Given the description of an element on the screen output the (x, y) to click on. 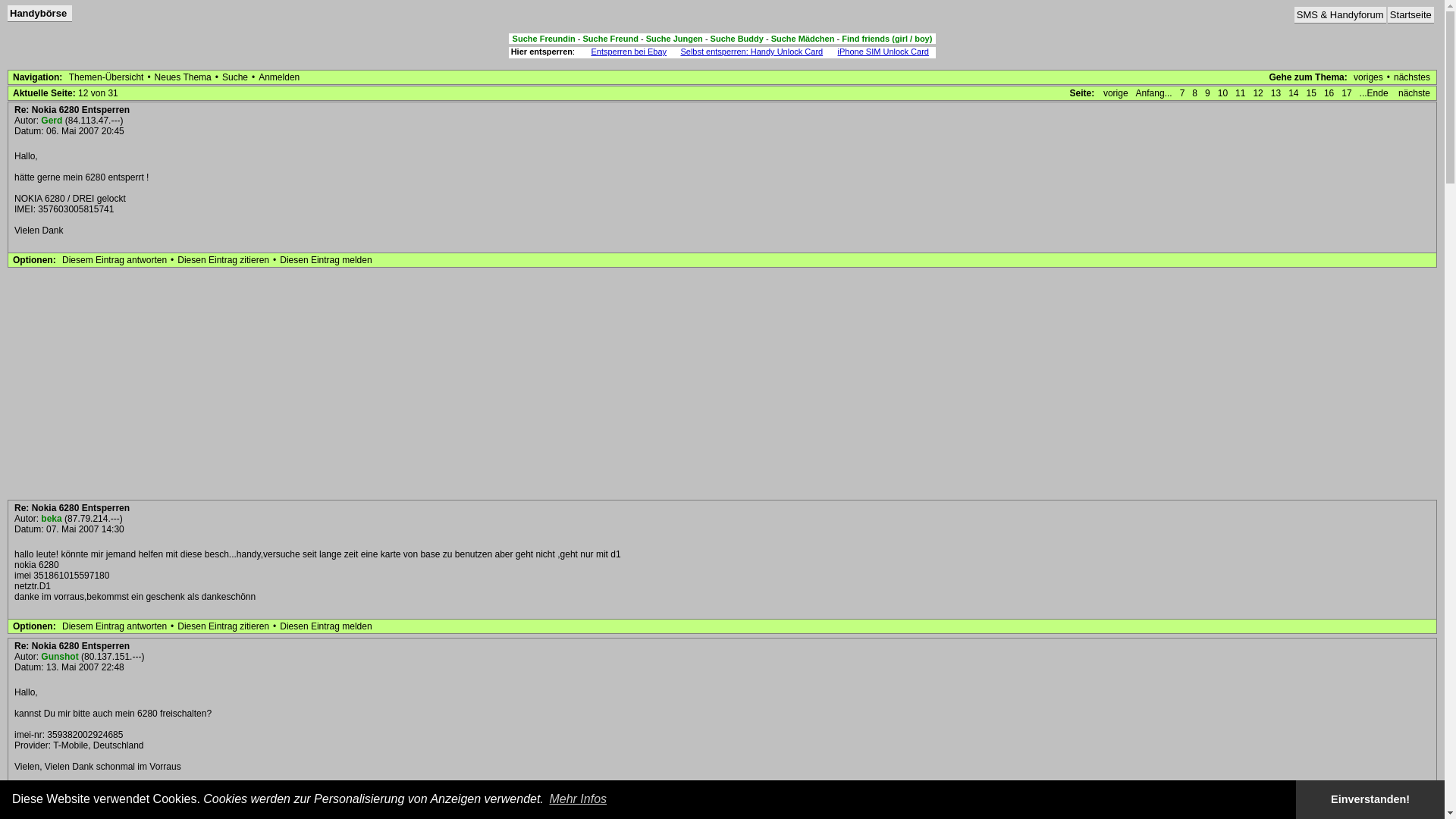
Suche Jungen Element type: text (674, 38)
13 Element type: text (1275, 93)
Selbst entsperren: Handy Unlock Card Element type: text (751, 51)
...Ende Element type: text (1374, 93)
Suche Freundin Element type: text (543, 38)
Entsperren bei Ebay Element type: text (628, 51)
Find friends (girl / boy) Element type: text (886, 38)
Diesen Eintrag melden Element type: text (325, 796)
Gerd Element type: text (51, 120)
Anmelden Element type: text (278, 77)
Gunshot Element type: text (59, 656)
Suche Buddy Element type: text (736, 38)
10 Element type: text (1222, 93)
Diesem Eintrag antworten Element type: text (114, 260)
15 Element type: text (1311, 93)
Neues Thema Element type: text (182, 77)
8 Element type: text (1194, 93)
17 Element type: text (1346, 93)
Diesen Eintrag melden Element type: text (325, 260)
Suche Element type: text (234, 77)
SMS & Handyforum Element type: text (1340, 14)
12 Element type: text (1257, 93)
Advertisement Element type: hover (721, 384)
14 Element type: text (1293, 93)
Diesen Eintrag melden Element type: text (325, 626)
Diesen Eintrag zitieren Element type: text (223, 260)
7 Element type: text (1182, 93)
9 Element type: text (1207, 93)
Suche Freund Element type: text (610, 38)
Diesen Eintrag zitieren Element type: text (223, 796)
Anfang... Element type: text (1154, 93)
Mehr Infos Element type: text (577, 798)
Diesem Eintrag antworten Element type: text (114, 796)
Startseite Element type: text (1410, 14)
beka Element type: text (50, 518)
11 Element type: text (1239, 93)
vorige Element type: text (1115, 93)
Diesem Eintrag antworten Element type: text (114, 626)
iPhone SIM Unlock Card Element type: text (882, 51)
16 Element type: text (1328, 93)
Diesen Eintrag zitieren Element type: text (223, 626)
voriges Element type: text (1367, 77)
